Given the description of an element on the screen output the (x, y) to click on. 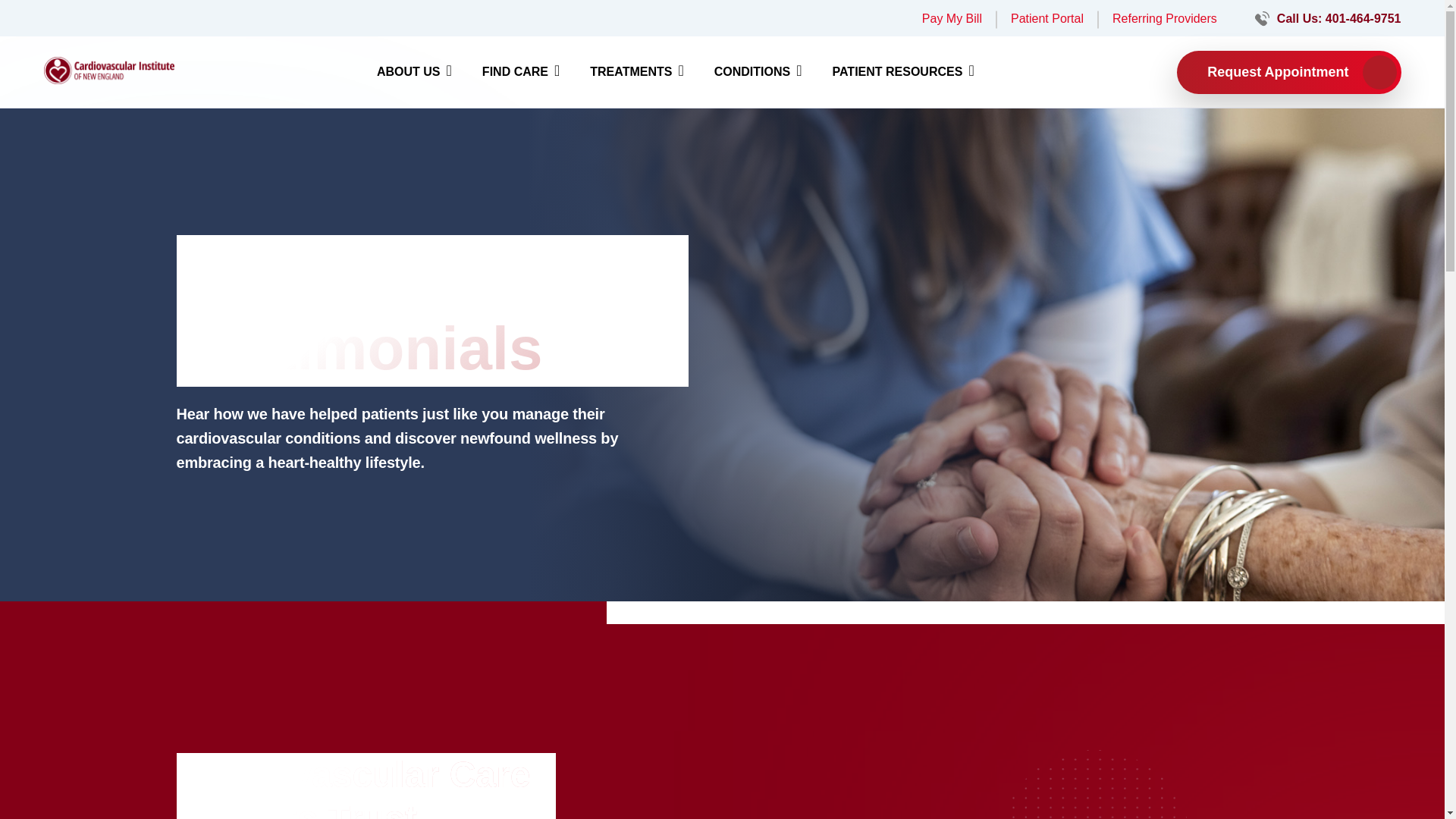
FIND CARE (520, 71)
Pay My Bill (951, 18)
CONDITIONS (758, 71)
Referring Providers (1164, 18)
ABOUT US (414, 71)
Call Us: 401-464-9751 (1338, 18)
Request Appointment (1288, 71)
TREATMENTS (635, 71)
Patient Portal (1046, 18)
PATIENT RESOURCES (903, 71)
